Given the description of an element on the screen output the (x, y) to click on. 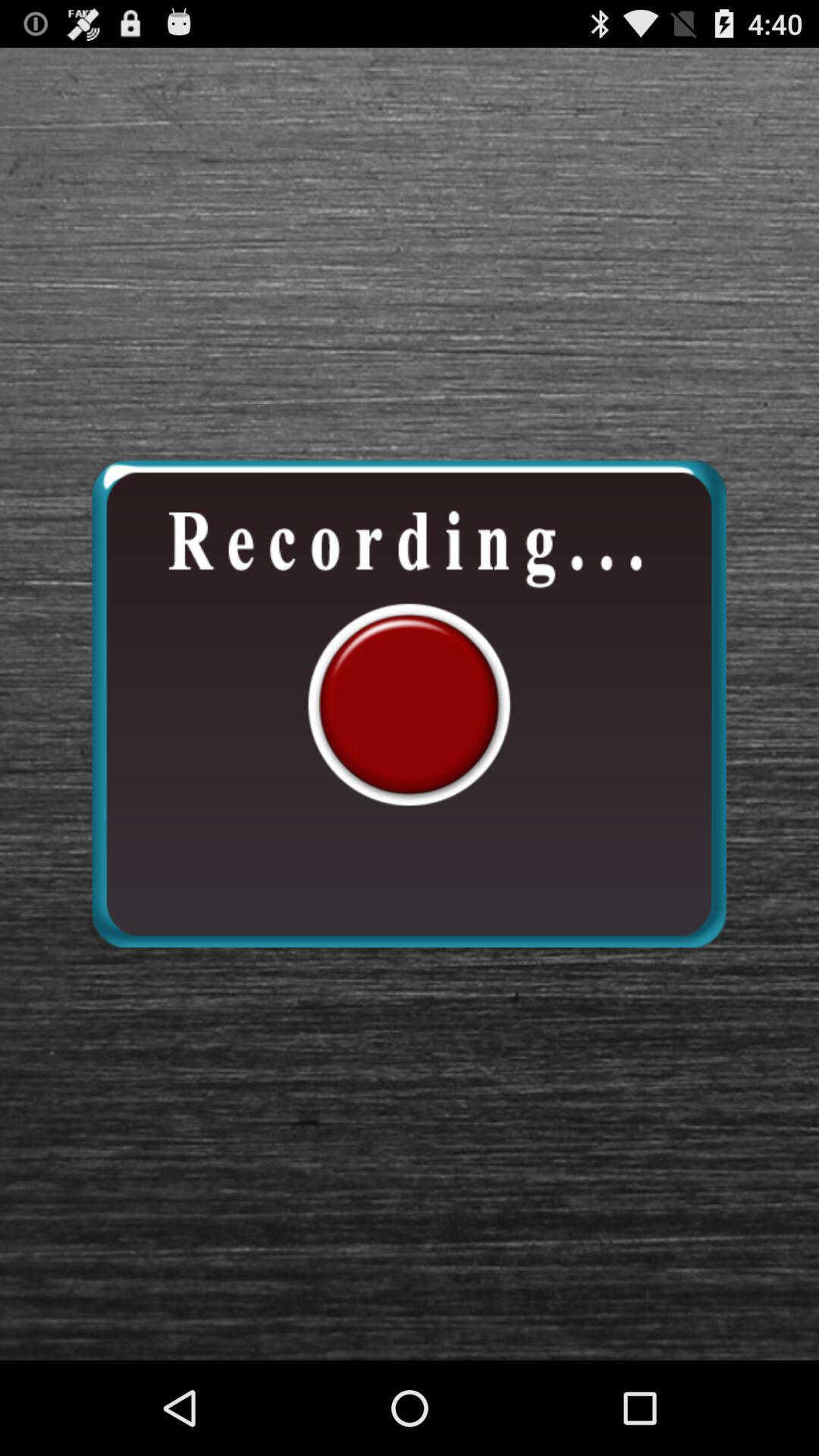
record (409, 703)
